Given the description of an element on the screen output the (x, y) to click on. 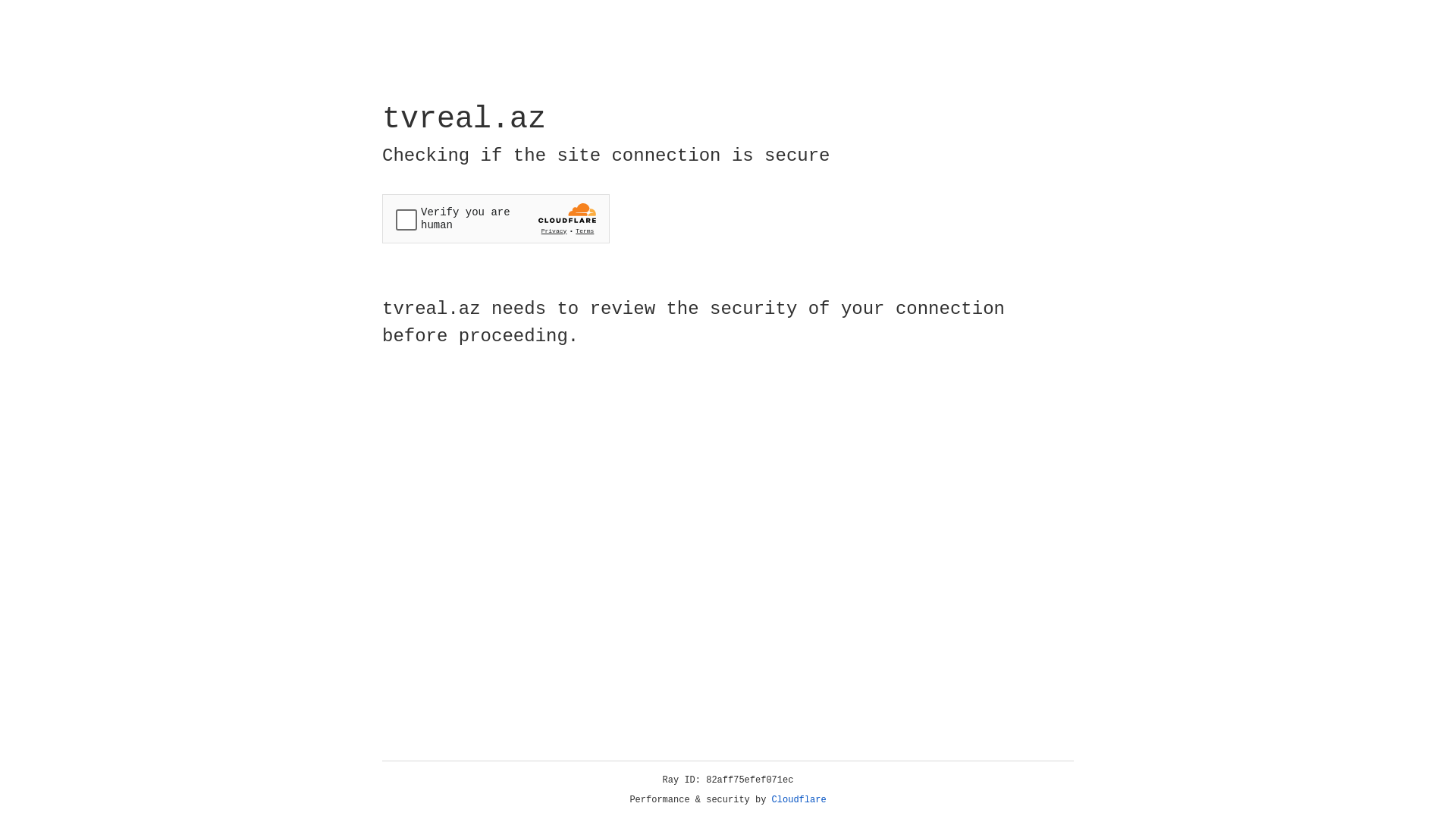
Cloudflare Element type: text (798, 799)
Widget containing a Cloudflare security challenge Element type: hover (495, 218)
